Given the description of an element on the screen output the (x, y) to click on. 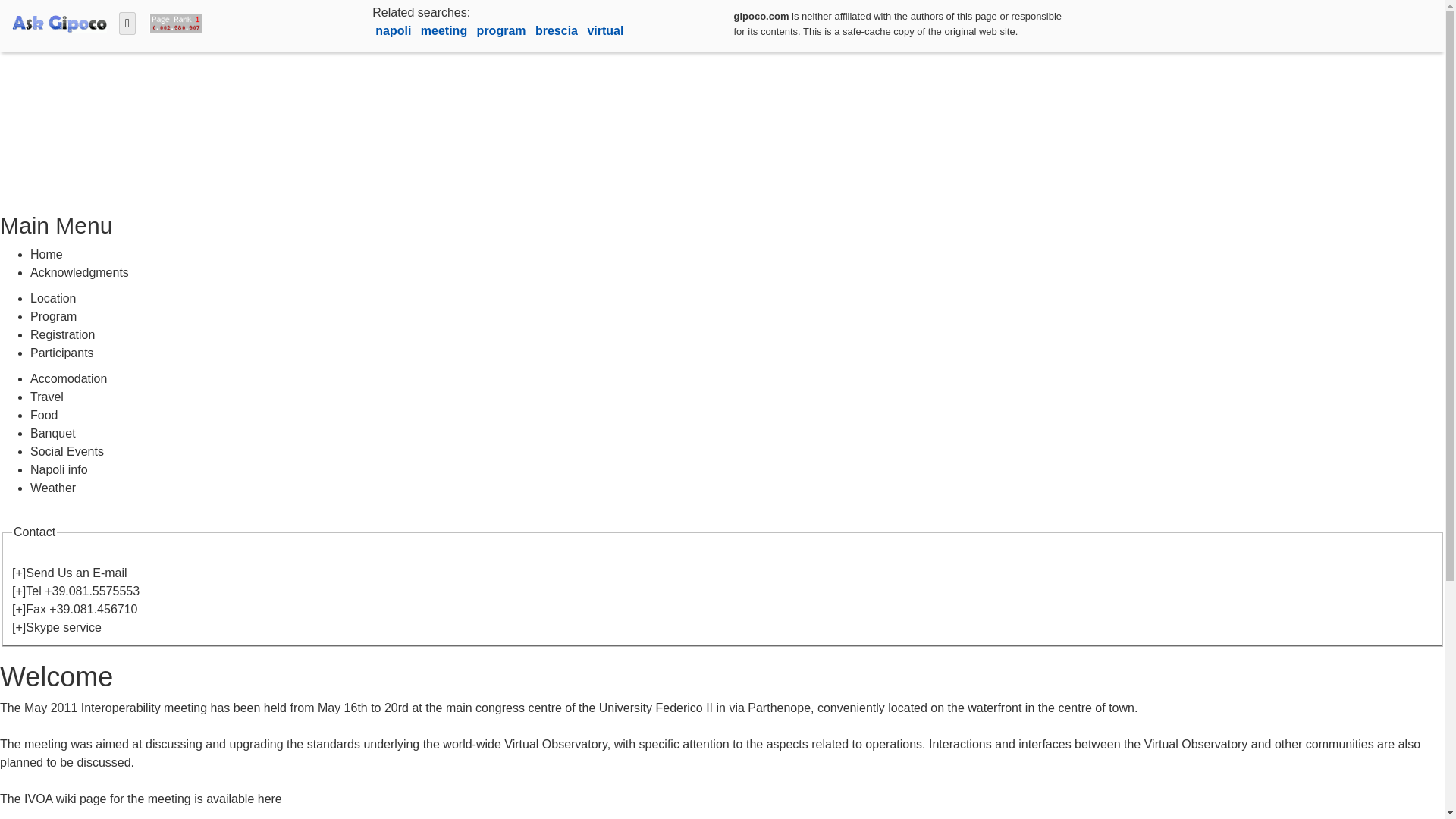
napoli (394, 30)
brescia (557, 30)
free experimental uncensored search engine - home page (58, 21)
virtual (604, 30)
meeting (445, 30)
program (503, 30)
brescia (557, 30)
meeting (445, 30)
view page-rank and visitors counter and free website stats (172, 21)
napoli (394, 30)
program (503, 30)
virtual (604, 30)
